Given the description of an element on the screen output the (x, y) to click on. 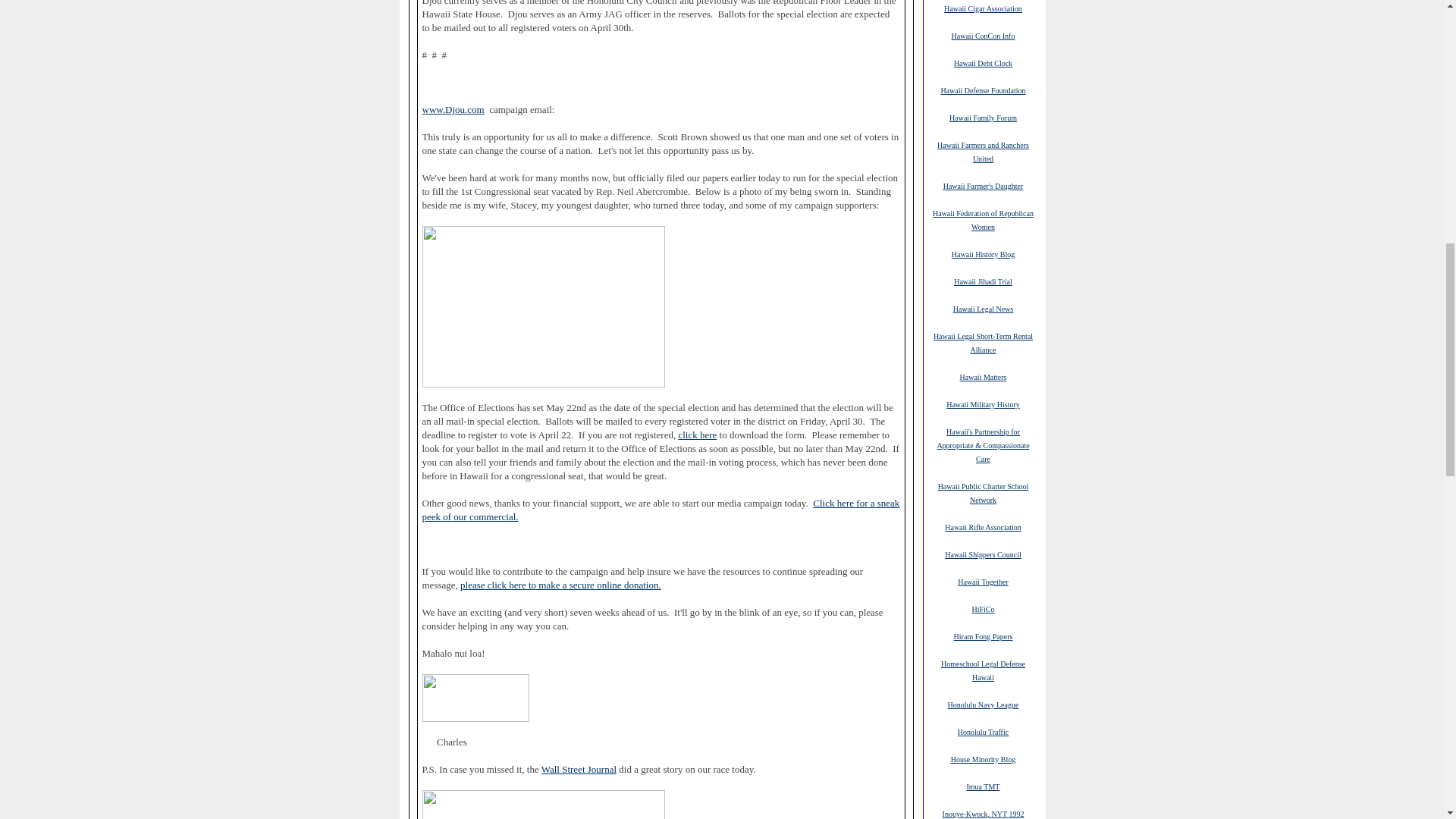
Wall Street Journal (578, 769)
www.Djou.com (452, 109)
click here (697, 434)
Hawaii Cigar Association (982, 8)
please click here to make a secure online donation. (560, 584)
Click here for a sneak peek of our commercial. (660, 509)
